Given the description of an element on the screen output the (x, y) to click on. 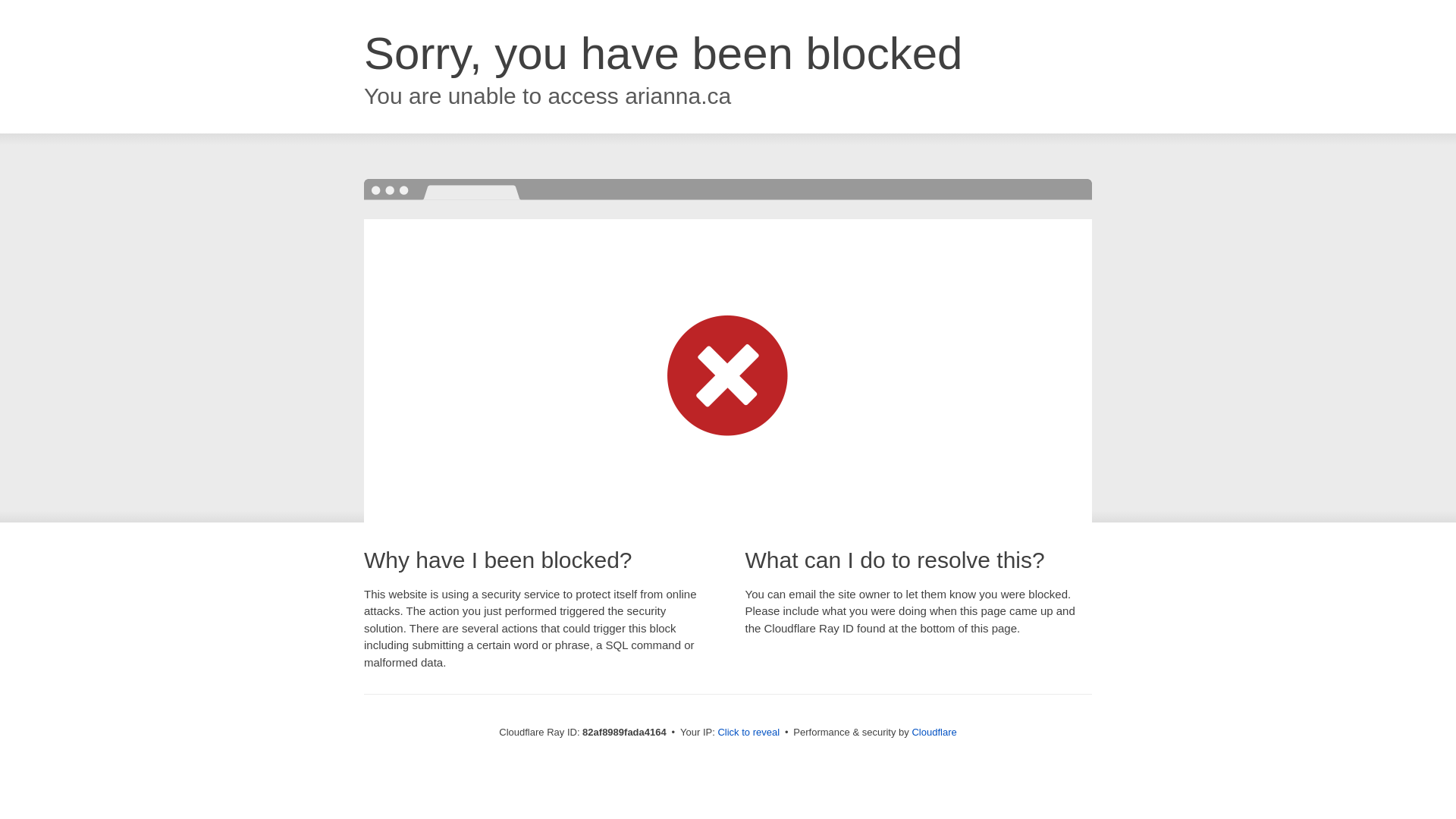
Click to reveal Element type: text (748, 732)
Cloudflare Element type: text (933, 731)
